Given the description of an element on the screen output the (x, y) to click on. 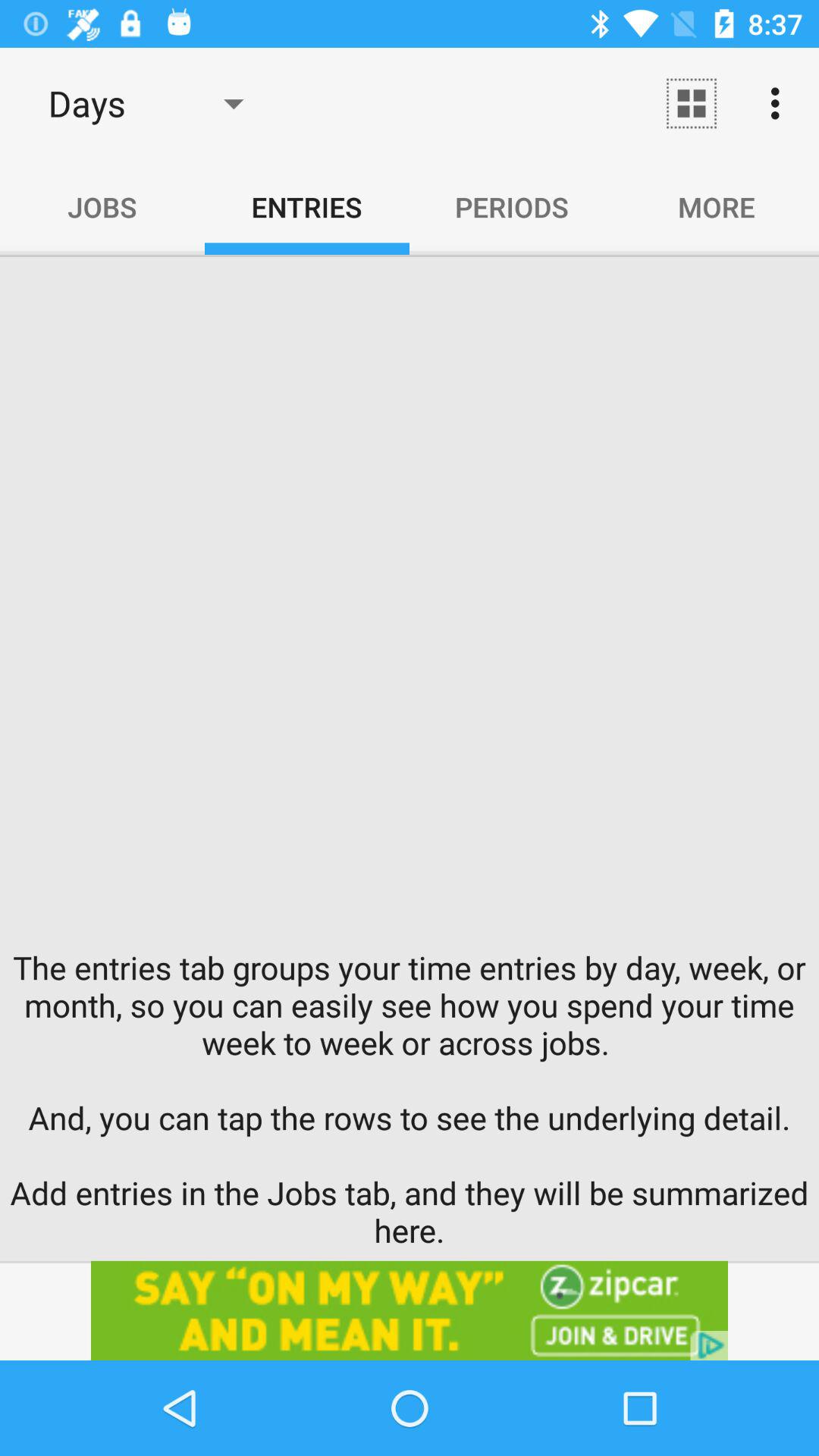
advertisement for zipcar (409, 1310)
